Given the description of an element on the screen output the (x, y) to click on. 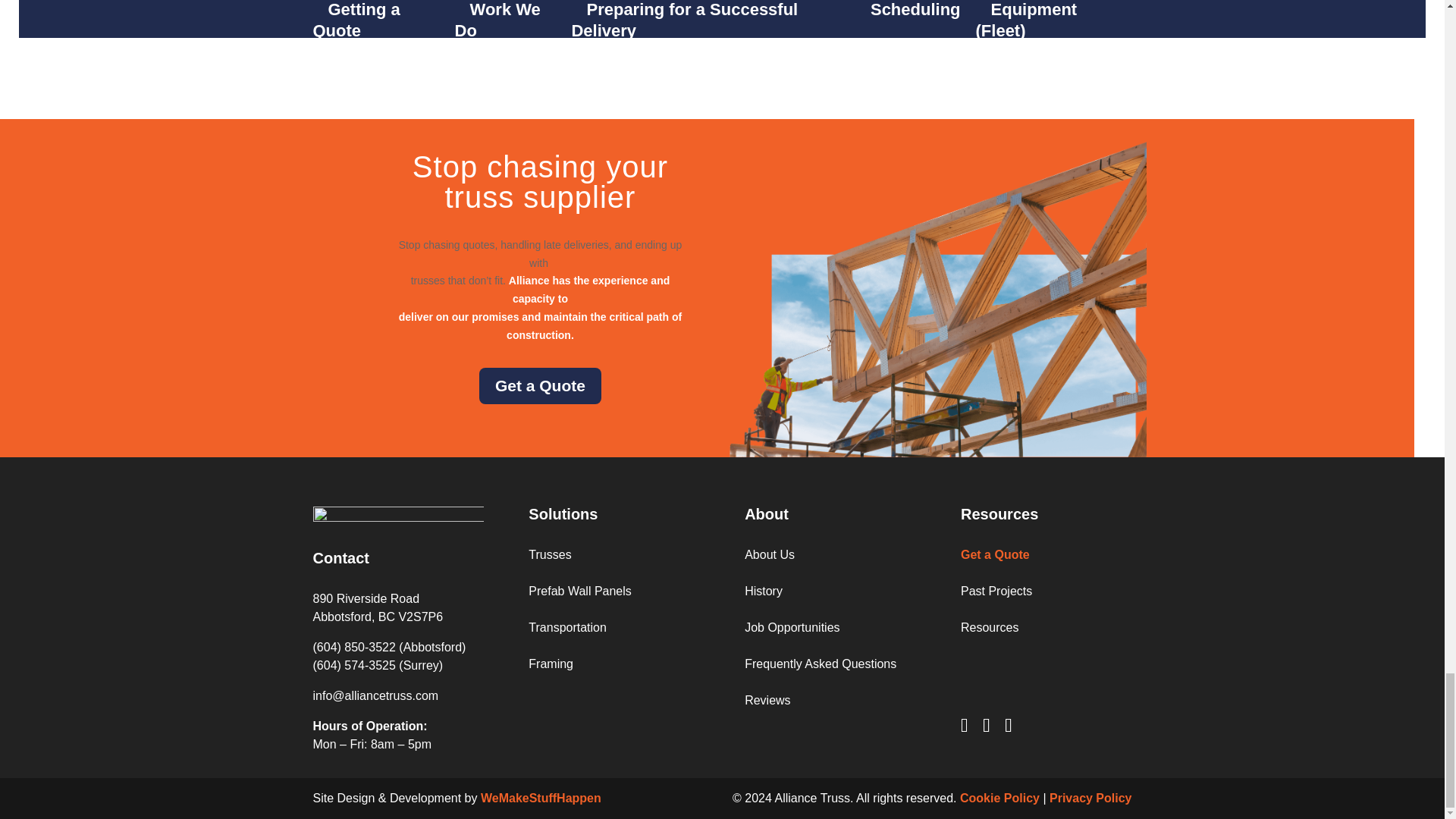
Job Opportunities (792, 626)
Framing (550, 663)
Transportation (567, 626)
Trusses (549, 554)
Website by (540, 797)
Frequently Asked Questions (820, 663)
History (763, 590)
Get a Quote (540, 385)
stop-chasing-your-truss-supplier-4 (938, 299)
Prefab Wall Panels (579, 590)
About Us (769, 554)
